Given the description of an element on the screen output the (x, y) to click on. 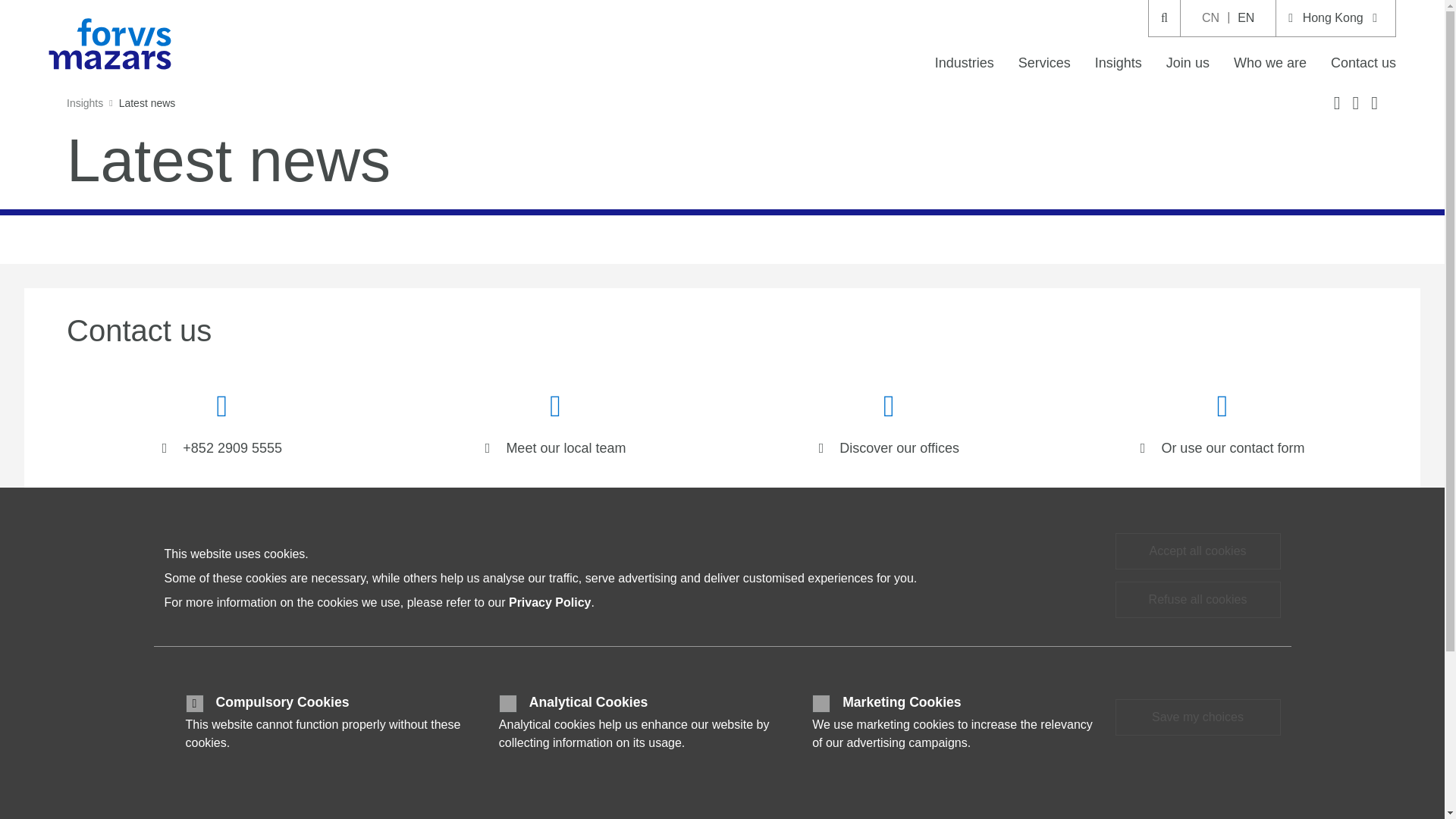
CN (1210, 17)
Hong Kong (1335, 18)
